Given the description of an element on the screen output the (x, y) to click on. 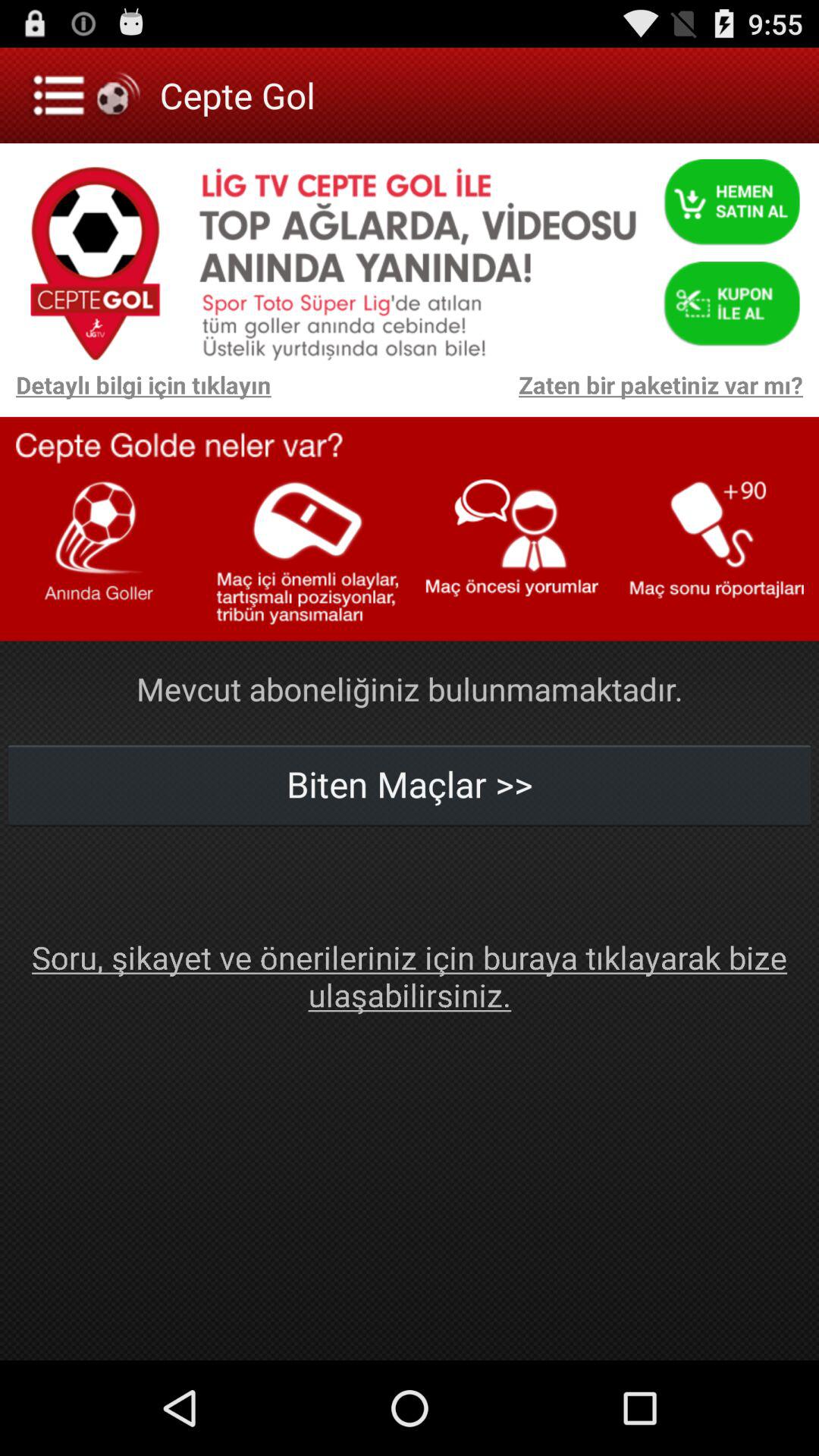
select a option zaten bir paketiniz var mi on a page (545, 392)
select the green button with a text kupon ile al on a right corner of page (731, 296)
select a icon ceptegol which is below menu option on the left side of the page (95, 256)
click on the second option from left (306, 559)
select the menu option on the top left side of page (87, 95)
select a six line text which is below cepte gol on a page (417, 256)
